Given the description of an element on the screen output the (x, y) to click on. 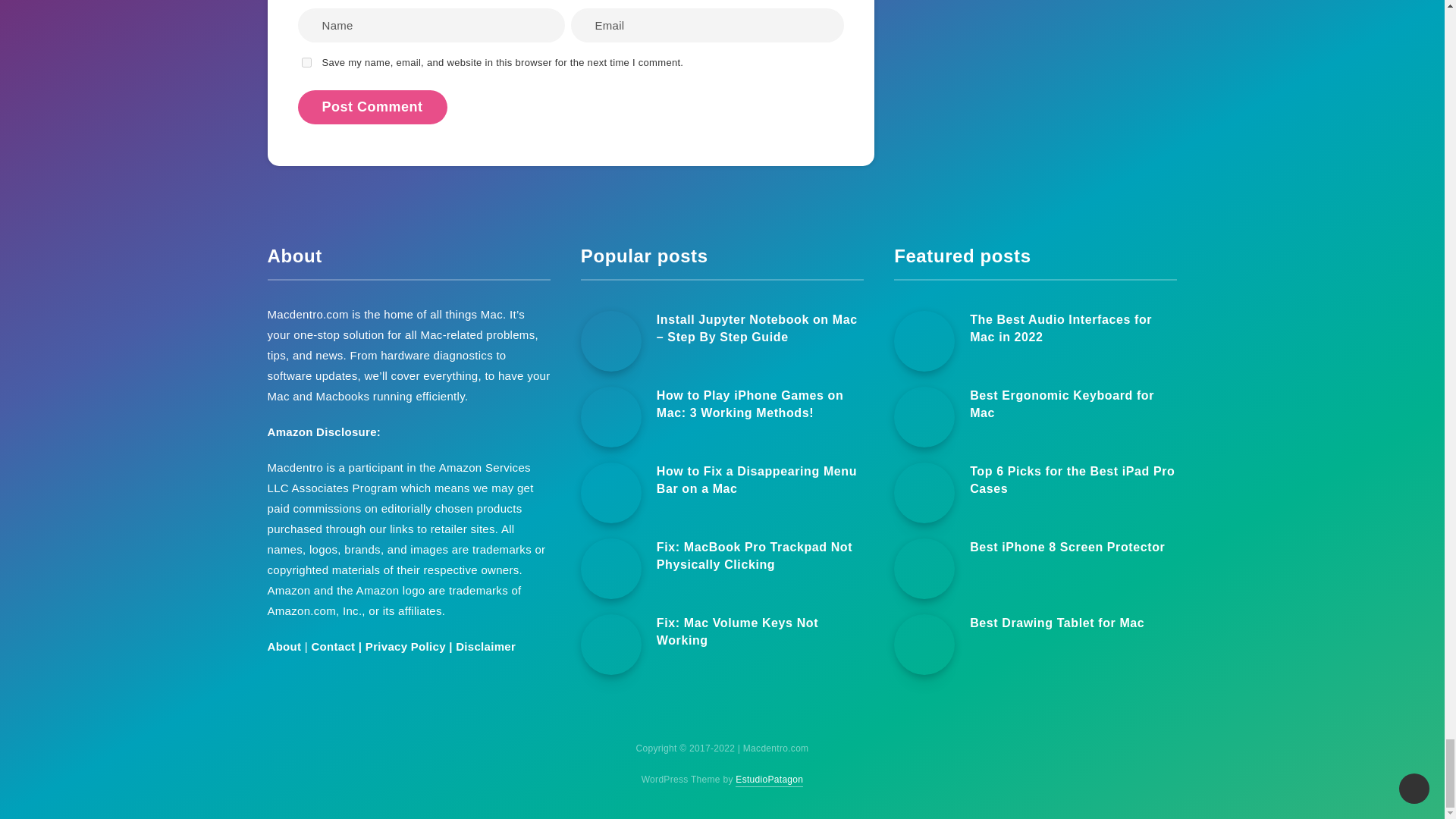
Post Comment (371, 107)
Powered with Breek (769, 779)
yes (306, 62)
